Given the description of an element on the screen output the (x, y) to click on. 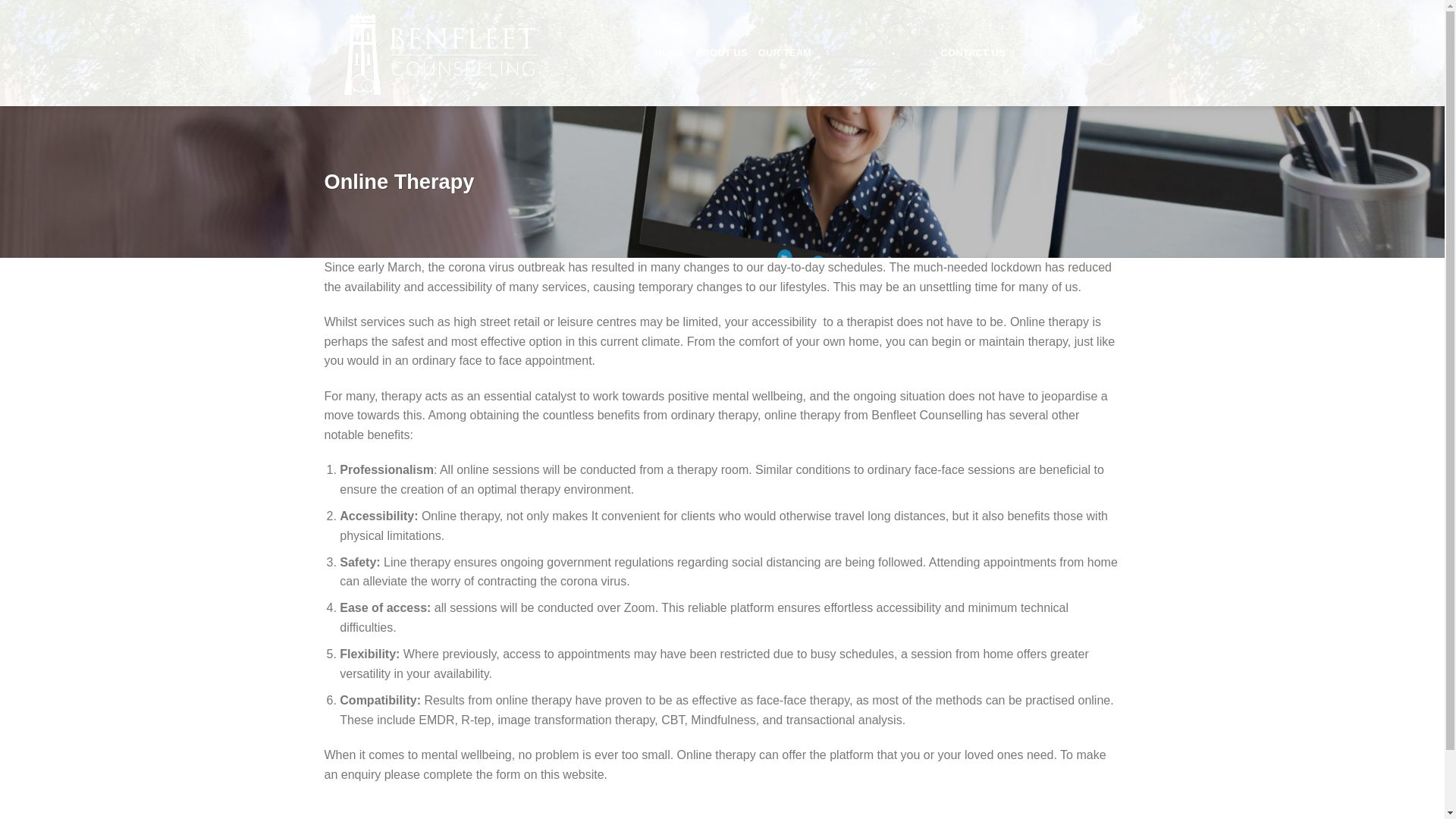
HOME (669, 52)
THERAPY SERVICES (876, 52)
ABOUT US (721, 52)
OUR TEAM (784, 52)
CONTACT US (973, 52)
